Given the description of an element on the screen output the (x, y) to click on. 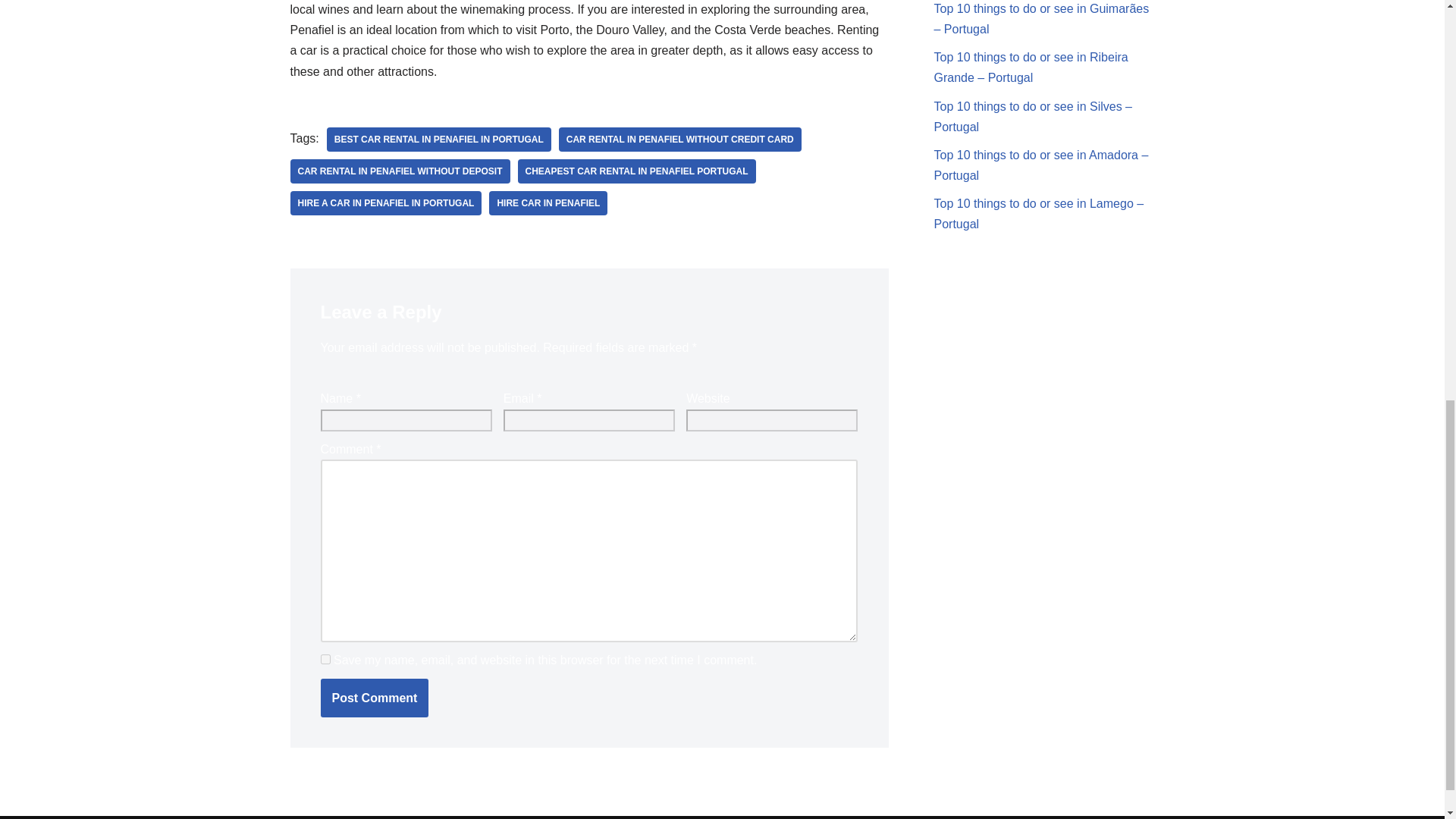
Car rental in Penafiel without credit card (680, 139)
HIRE A CAR IN PENAFIEL IN PORTUGAL (385, 202)
Car rental in Penafiel without deposit (399, 170)
Hire car in Penafiel (548, 202)
Hire a car in Penafiel in Portugal (385, 202)
Cheapest car rental in Penafiel Portugal (636, 170)
HIRE CAR IN PENAFIEL (548, 202)
CAR RENTAL IN PENAFIEL WITHOUT DEPOSIT (399, 170)
CAR RENTAL IN PENAFIEL WITHOUT CREDIT CARD (680, 139)
CHEAPEST CAR RENTAL IN PENAFIEL PORTUGAL (636, 170)
Best car rental in Penafiel in Portugal (438, 139)
BEST CAR RENTAL IN PENAFIEL IN PORTUGAL (438, 139)
Post Comment (374, 698)
Post Comment (374, 698)
yes (325, 659)
